Given the description of an element on the screen output the (x, y) to click on. 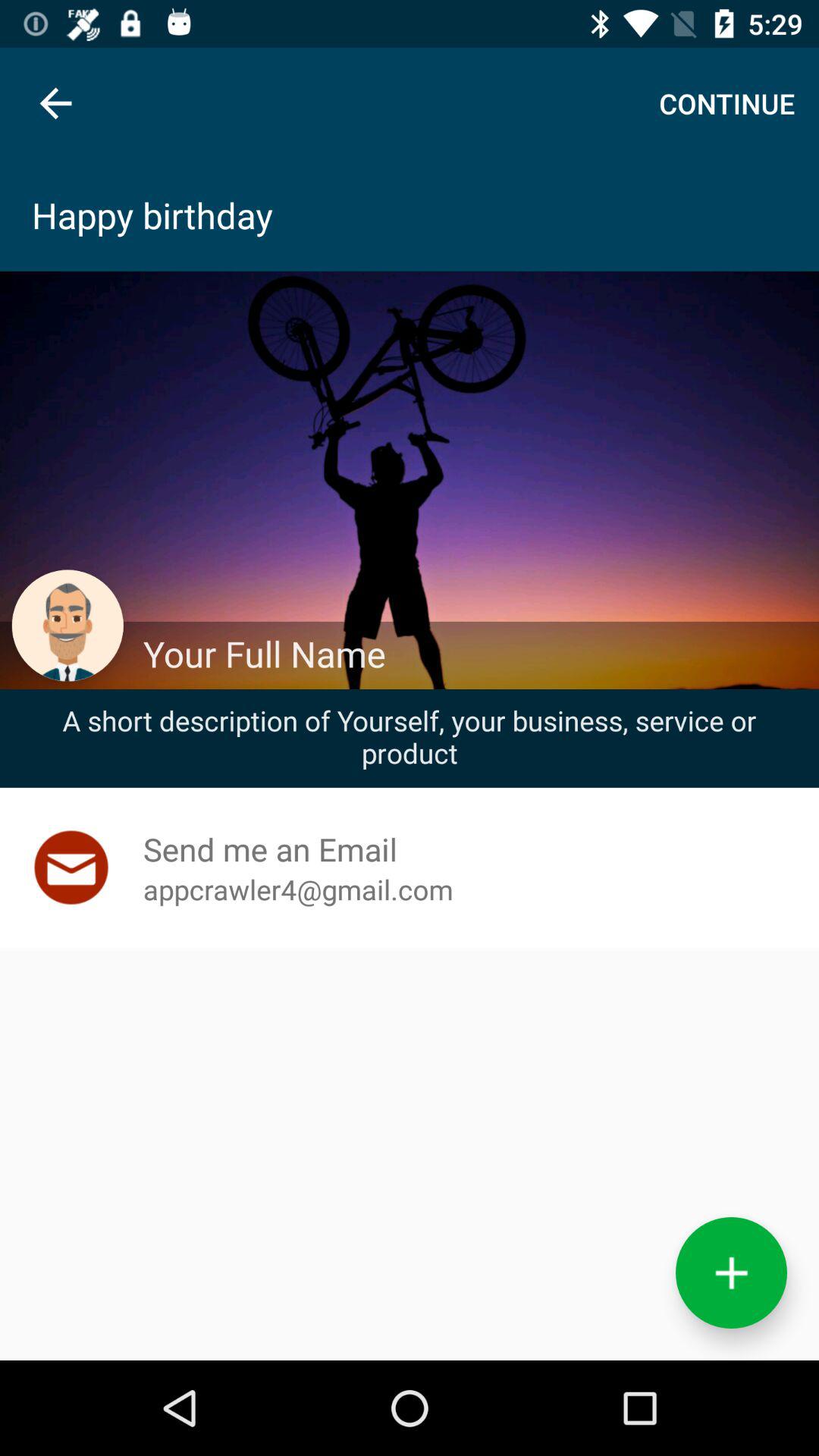
select icon at the bottom right corner (731, 1272)
